Given the description of an element on the screen output the (x, y) to click on. 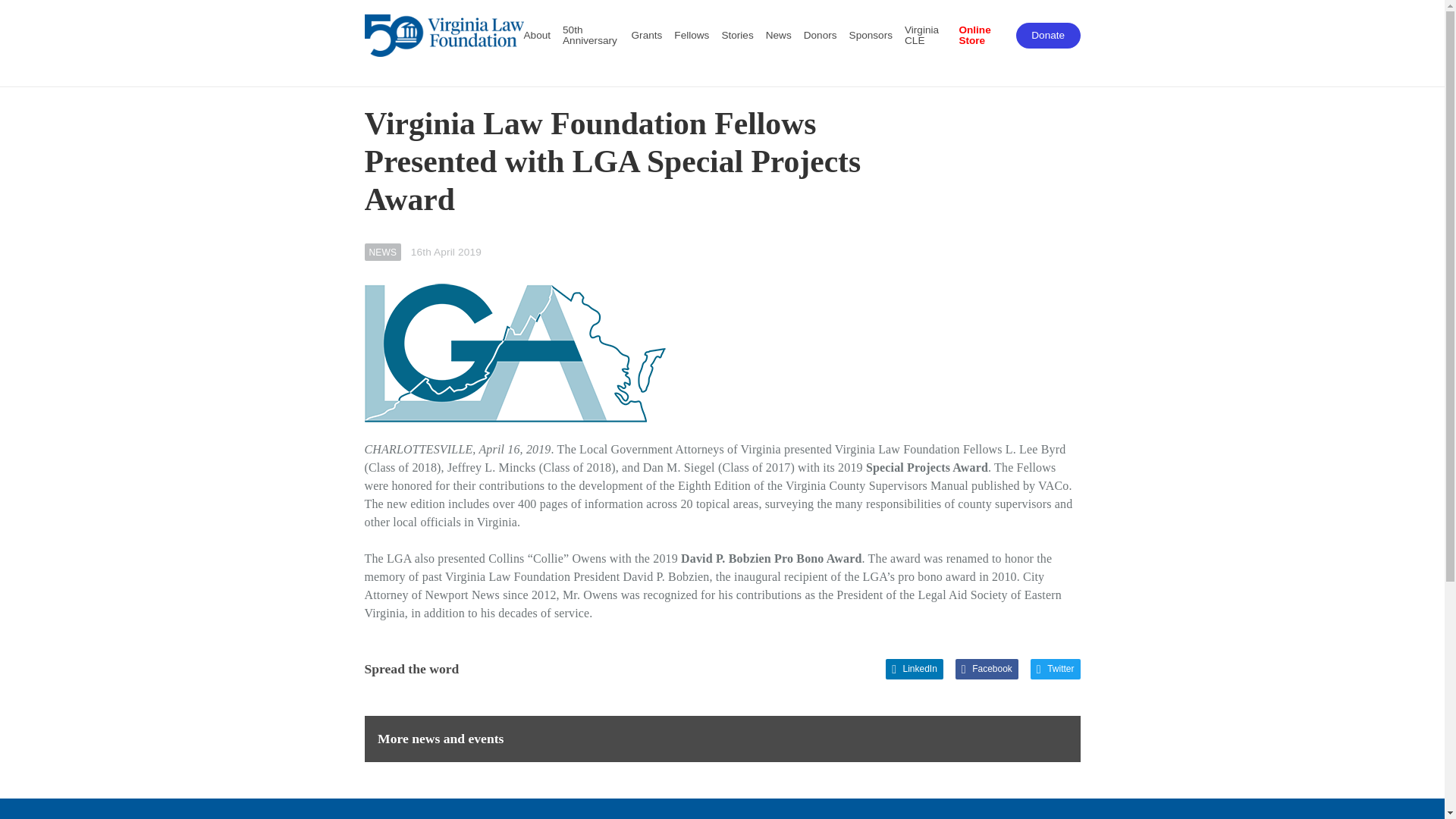
NEWS (382, 252)
Twitter (1055, 668)
50th Anniversary (591, 35)
Facebook (986, 668)
LinkedIn (914, 668)
Sponsors (870, 35)
Donate (1048, 35)
More news and events (722, 738)
Virginia Law Foundation (443, 34)
